Given the description of an element on the screen output the (x, y) to click on. 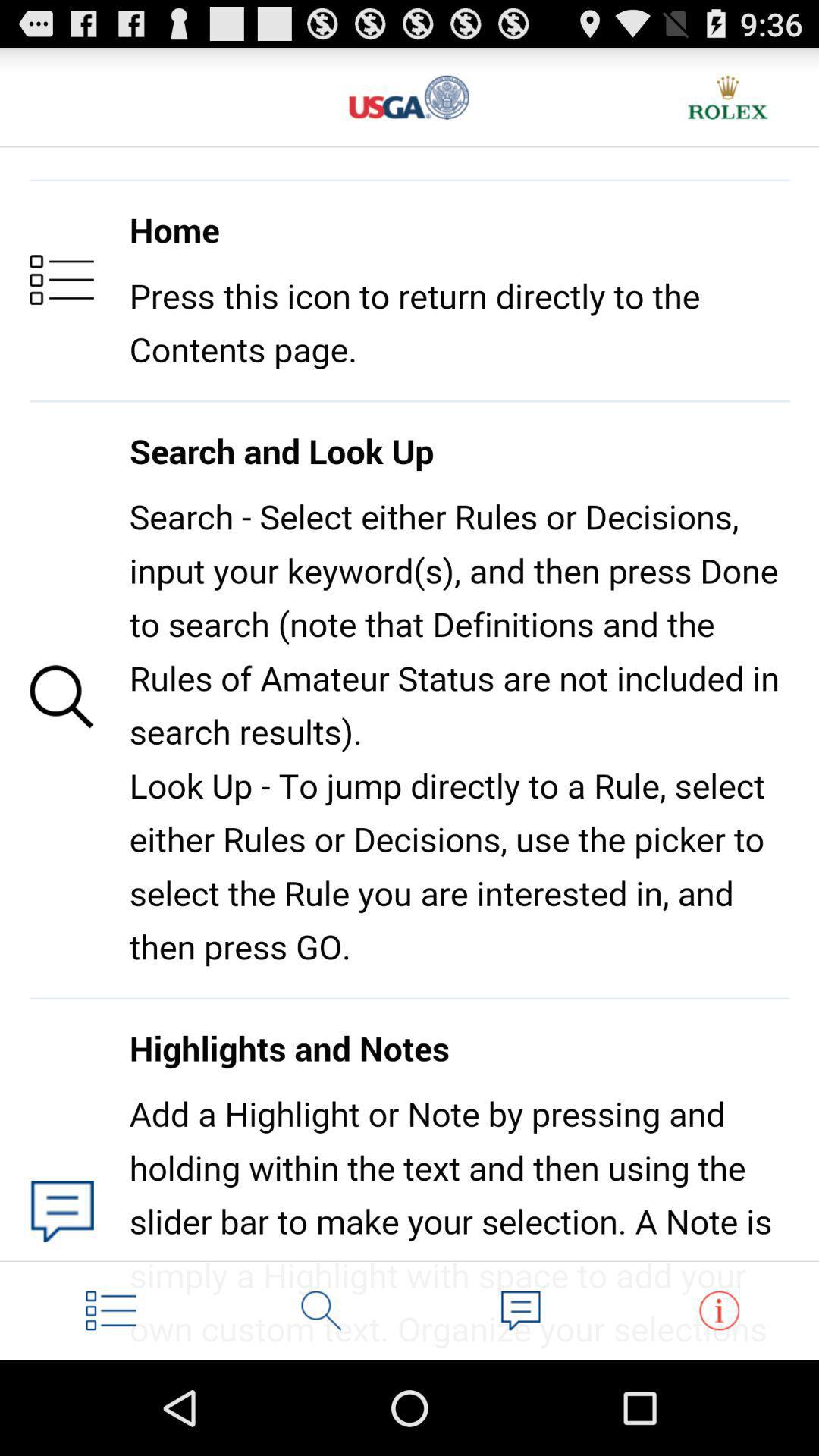
go to home (111, 1310)
